Given the description of an element on the screen output the (x, y) to click on. 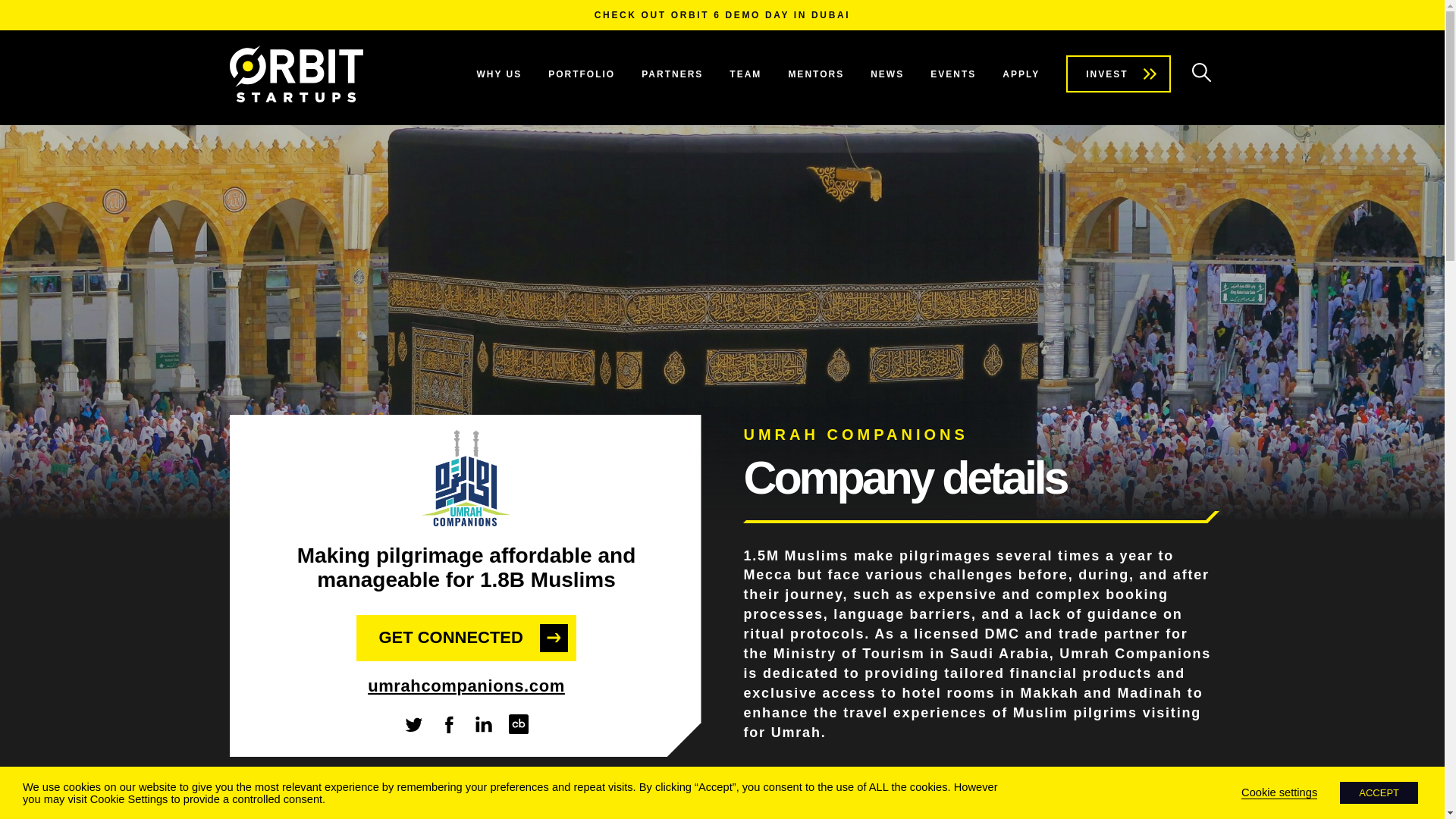
INVEST (1117, 73)
TEAM (745, 73)
ORBIT STARTUPS 2023 (1021, 807)
SAUDI ARABIA (1037, 783)
FINTECH (791, 807)
EVENTS (952, 73)
PARTNERS (672, 73)
GET CONNECTED (465, 638)
NEWS (887, 73)
WHY US (498, 73)
WOMEN FOUNDERS (913, 783)
MENTORS (816, 73)
APPLY (1021, 73)
DIGITIZATION (793, 783)
umrahcompanions.com (466, 685)
